Given the description of an element on the screen output the (x, y) to click on. 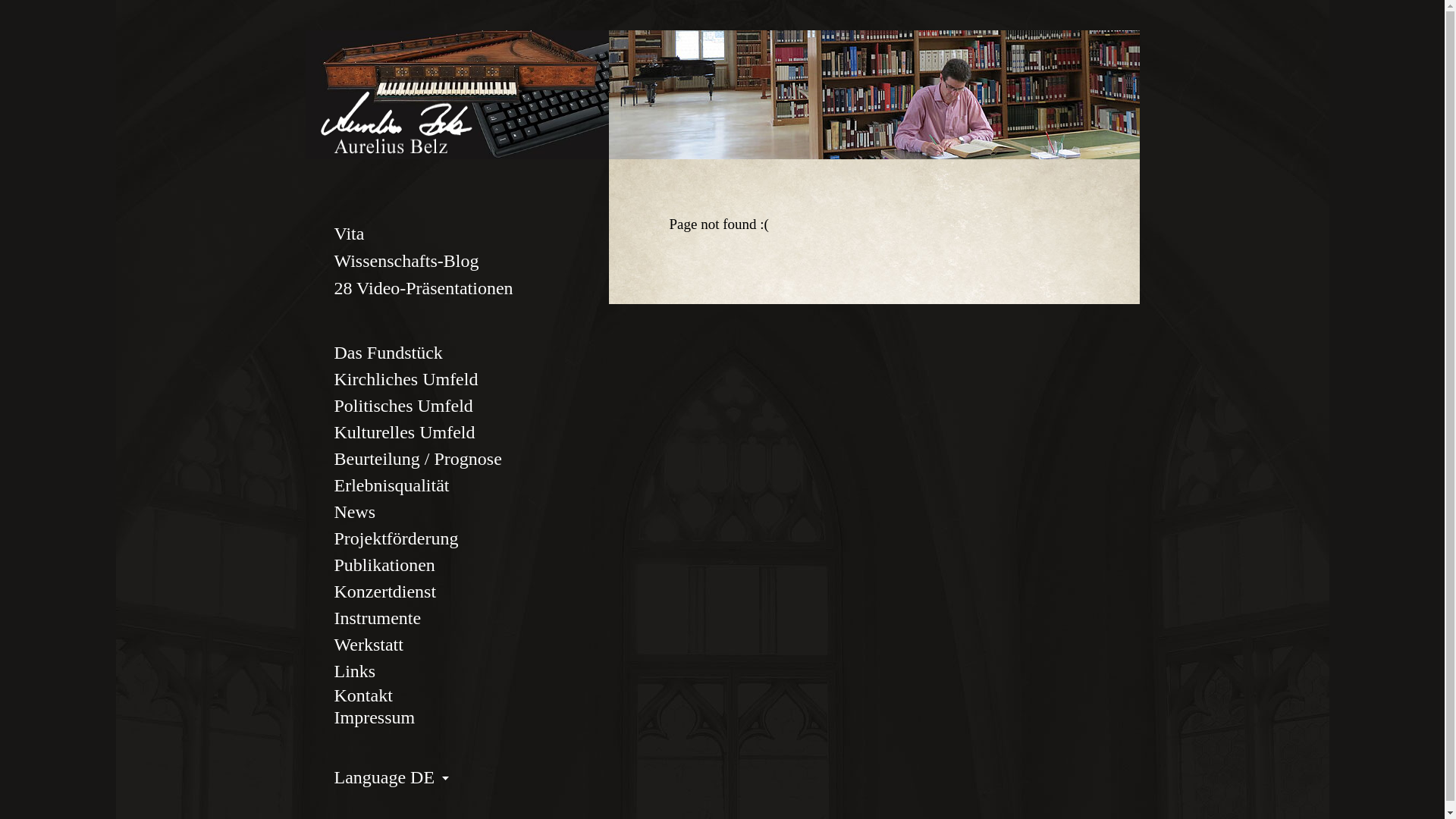
Kirchliches Umfeld Element type: text (405, 379)
Politisches Umfeld Element type: text (402, 405)
Beurteilung / Prognose Element type: text (417, 458)
Publikationen Element type: text (383, 565)
Kontakt Element type: text (362, 695)
News Element type: text (354, 511)
www.typo3-team.eu Element type: hover (471, 123)
Links Element type: text (354, 671)
Konzertdienst Element type: text (384, 591)
Instrumente Element type: text (376, 618)
Werkstatt Element type: text (367, 644)
Impressum Element type: text (373, 717)
Kulturelles Umfeld Element type: text (403, 432)
Wissenschafts-Blog Element type: text (405, 260)
Vita Element type: text (348, 233)
